Given the description of an element on the screen output the (x, y) to click on. 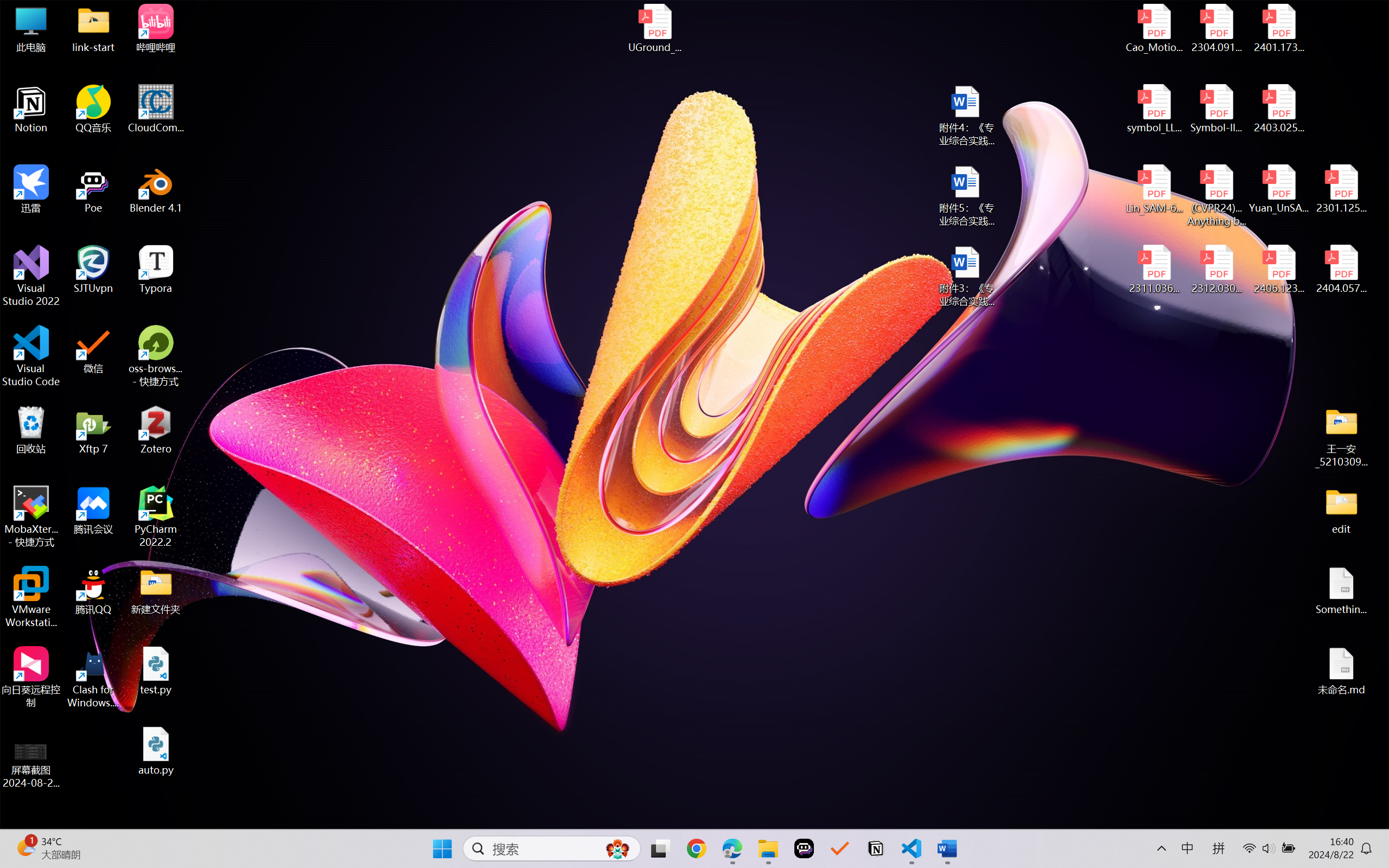
2301.12597v3.pdf (1340, 189)
test.py (156, 670)
Notion (31, 109)
2401.17399v1.pdf (1278, 28)
symbol_LLM.pdf (1154, 109)
Poe (804, 848)
